Given the description of an element on the screen output the (x, y) to click on. 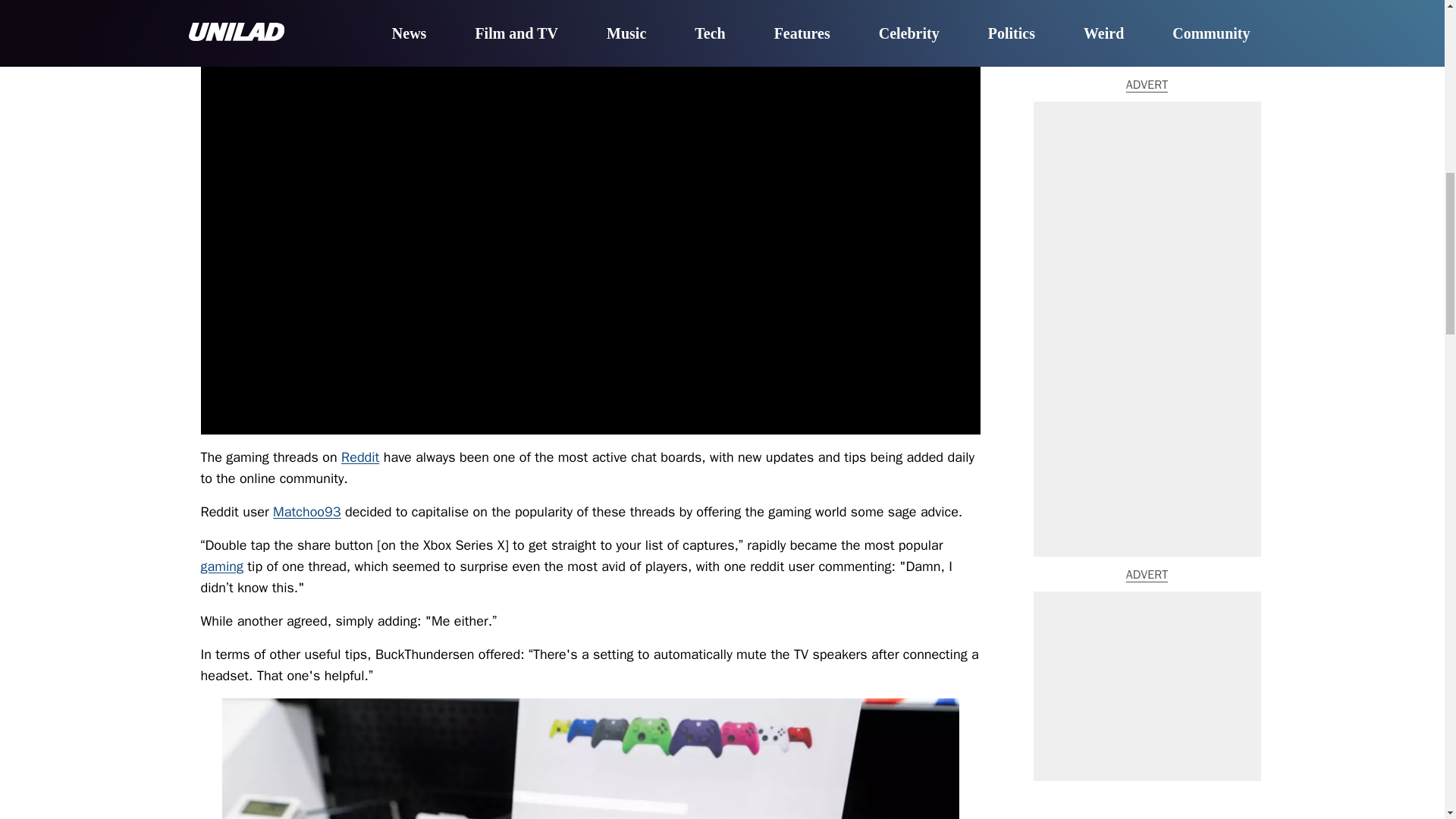
gaming (221, 565)
Reddit (359, 457)
Matchoo93 (306, 511)
